Given the description of an element on the screen output the (x, y) to click on. 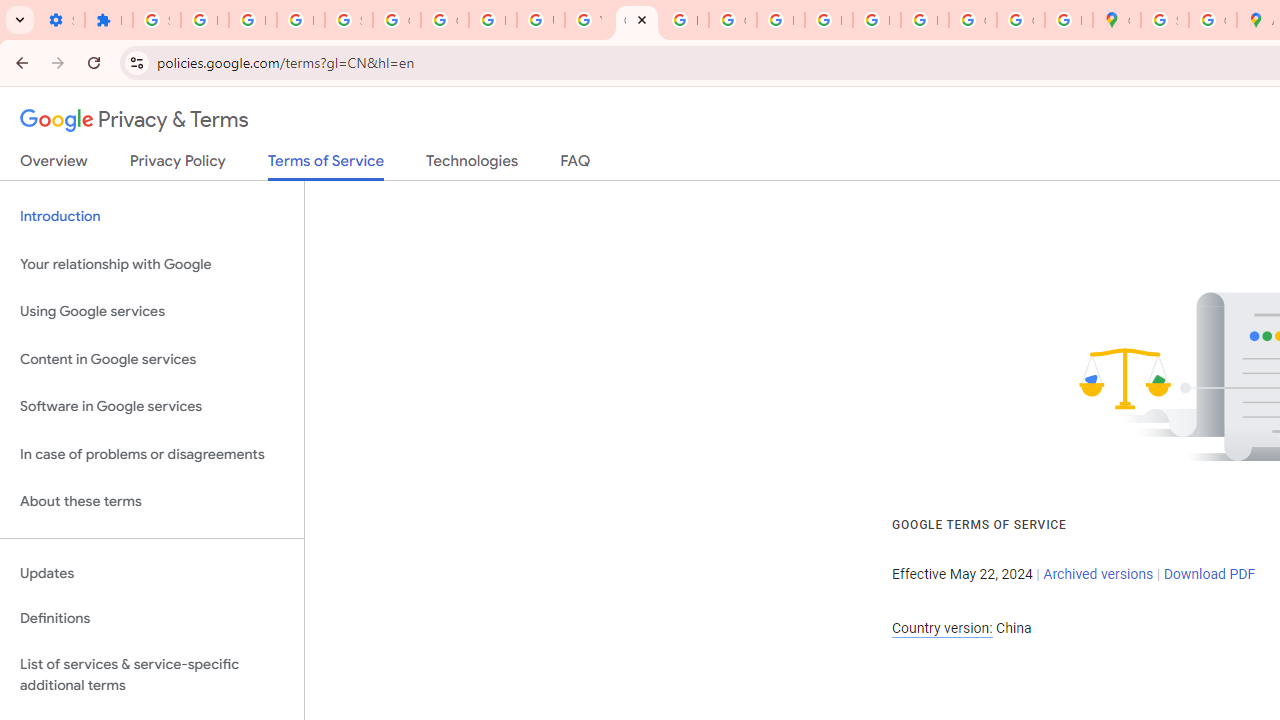
In case of problems or disagreements (152, 453)
Google Account Help (396, 20)
Archived versions (1098, 574)
Download PDF (1209, 574)
Sign in - Google Accounts (156, 20)
Content in Google services (152, 358)
Google Account Help (444, 20)
Delete photos & videos - Computer - Google Photos Help (204, 20)
YouTube (588, 20)
